Given the description of an element on the screen output the (x, y) to click on. 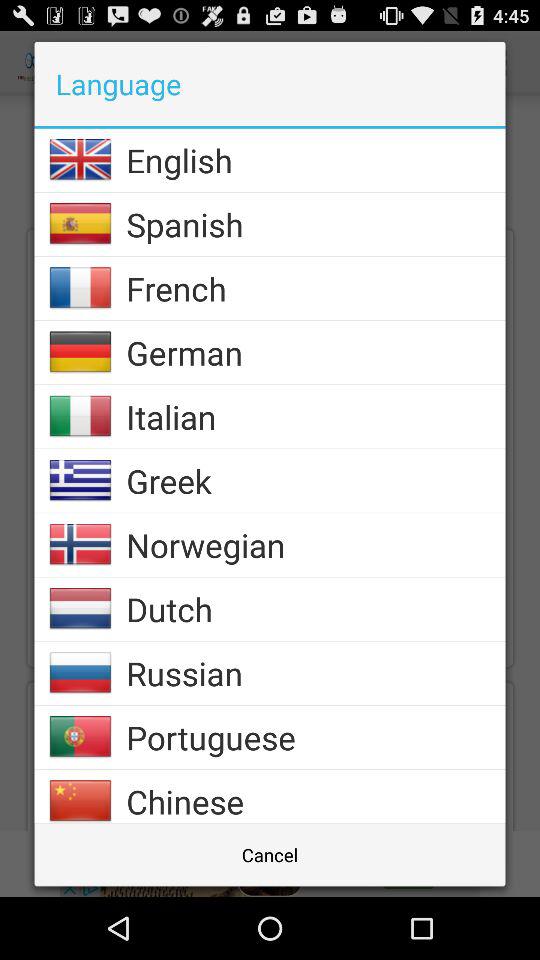
press russian app (315, 673)
